Given the description of an element on the screen output the (x, y) to click on. 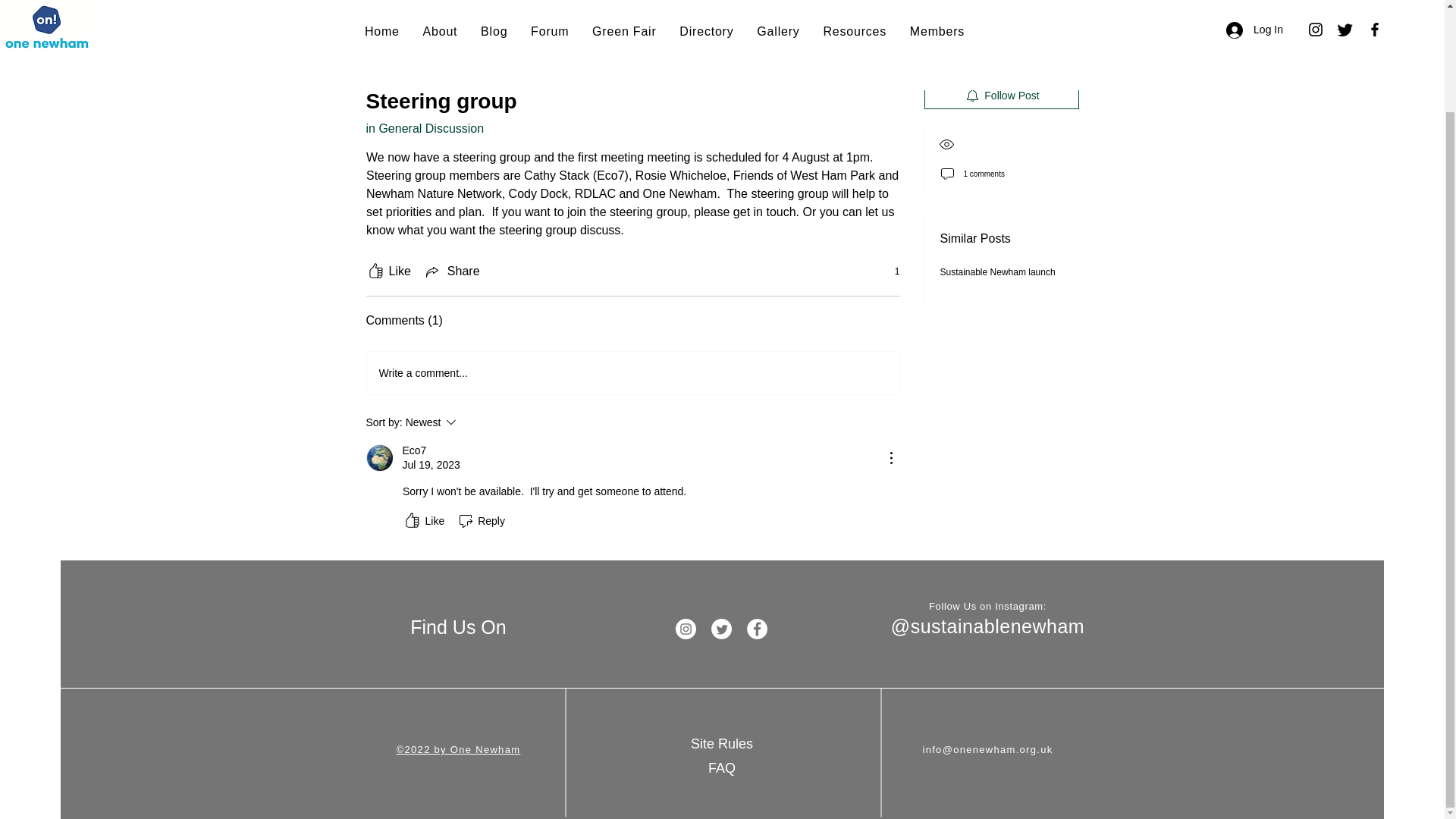
1 (888, 271)
in General Discussion (424, 128)
Eco7 (379, 457)
Write a comment... (632, 372)
Comment (1000, 55)
Eco7 (413, 450)
Reply (481, 520)
My Posts (532, 2)
Sustainable Newham launch (997, 271)
Site Rules (721, 743)
Categories (394, 2)
Like (387, 271)
Share (471, 422)
